Given the description of an element on the screen output the (x, y) to click on. 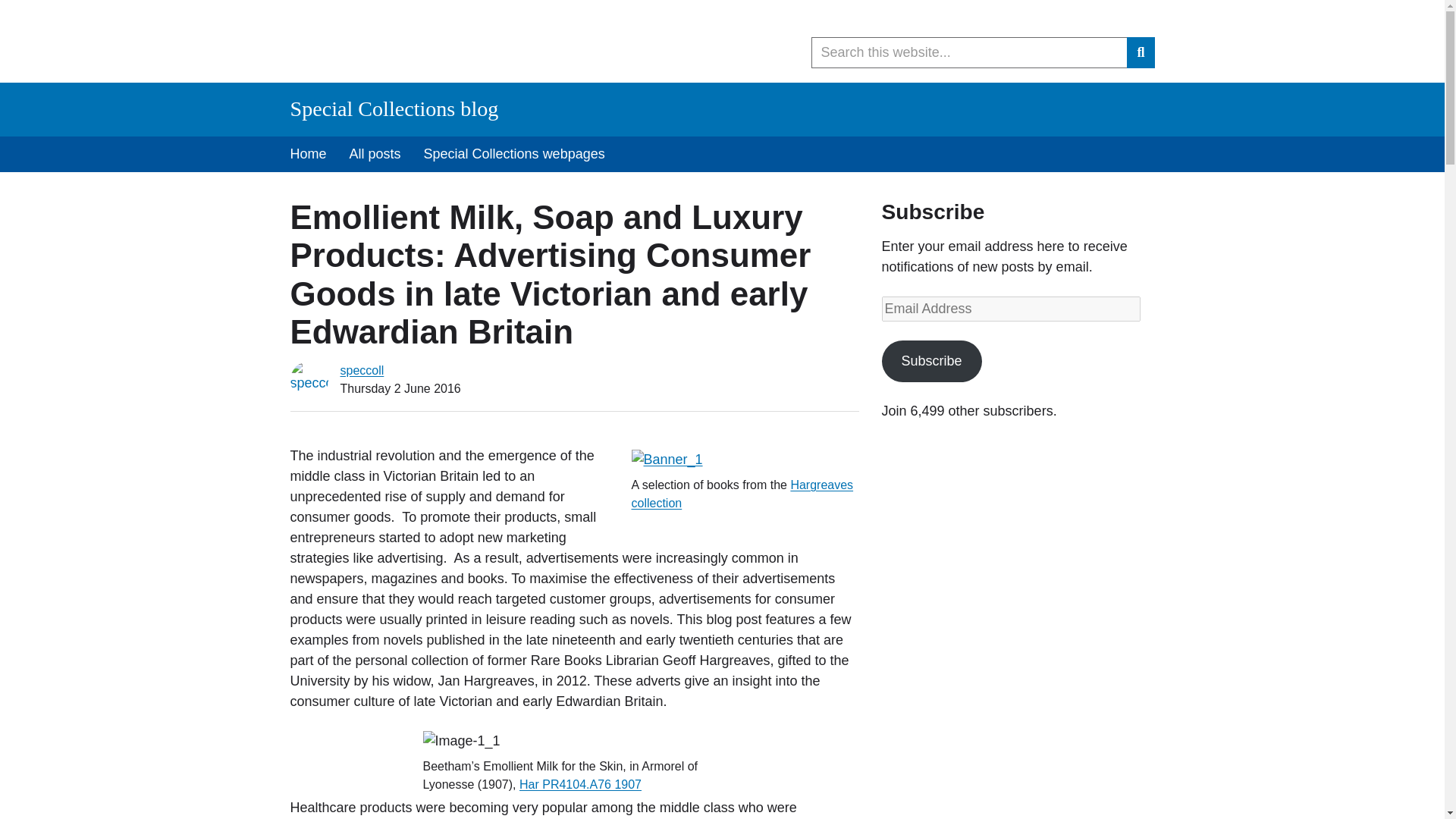
Har PR4104.A76 1907 (580, 784)
Hargreaves collection (741, 493)
Subscribe (930, 361)
Special Collections webpages (513, 153)
Special Collections blog (393, 108)
Posts by speccoll (361, 369)
Home (308, 153)
speccoll (361, 369)
All posts (374, 153)
